Given the description of an element on the screen output the (x, y) to click on. 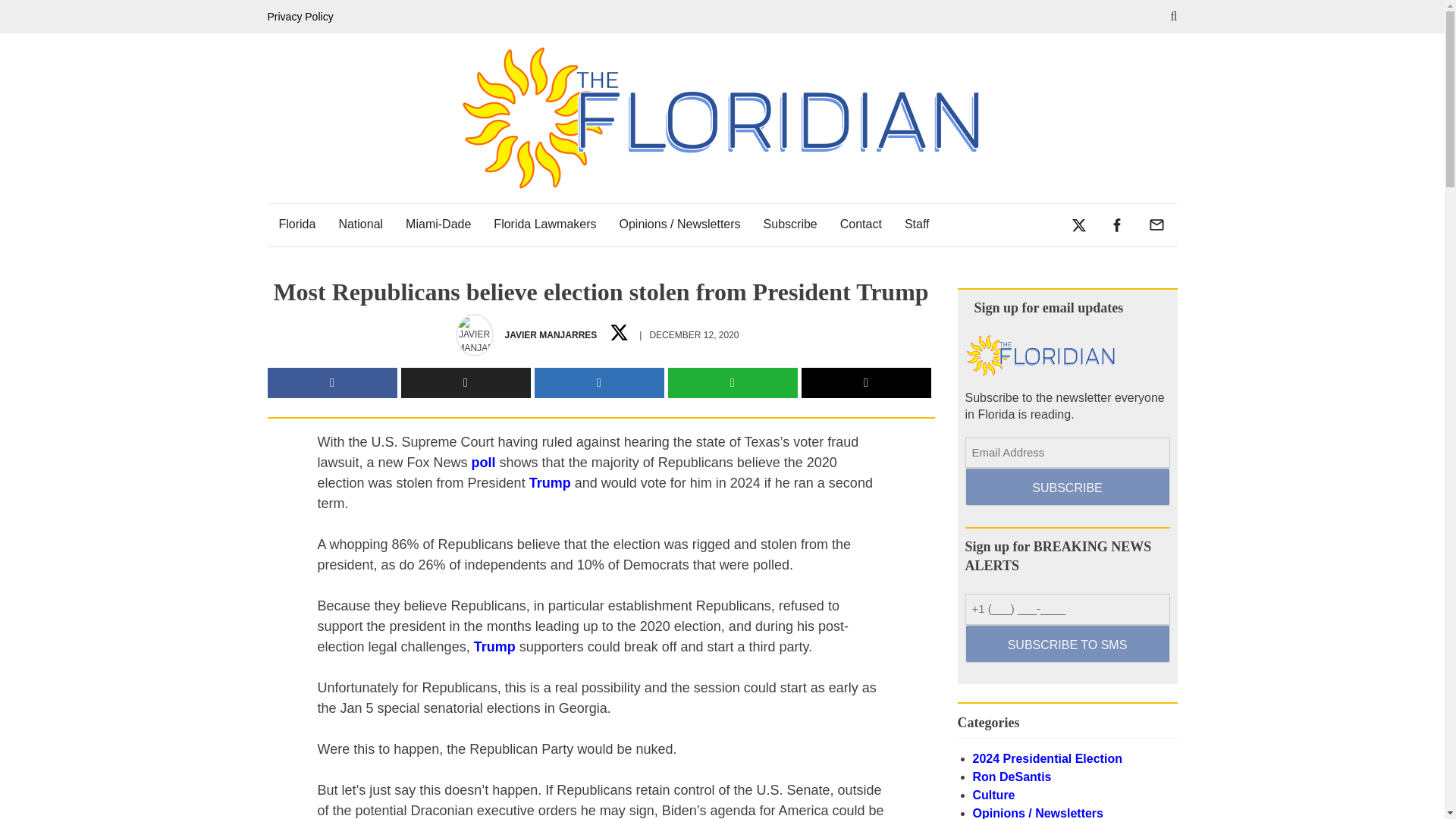
Trump (549, 482)
JAVIER MANJARRES (550, 335)
SUBSCRIBE (1066, 486)
Privacy Policy (303, 16)
Staff (916, 223)
Miami-Dade (437, 223)
poll (483, 462)
Trump (494, 646)
Florida (296, 223)
National (360, 223)
